Given the description of an element on the screen output the (x, y) to click on. 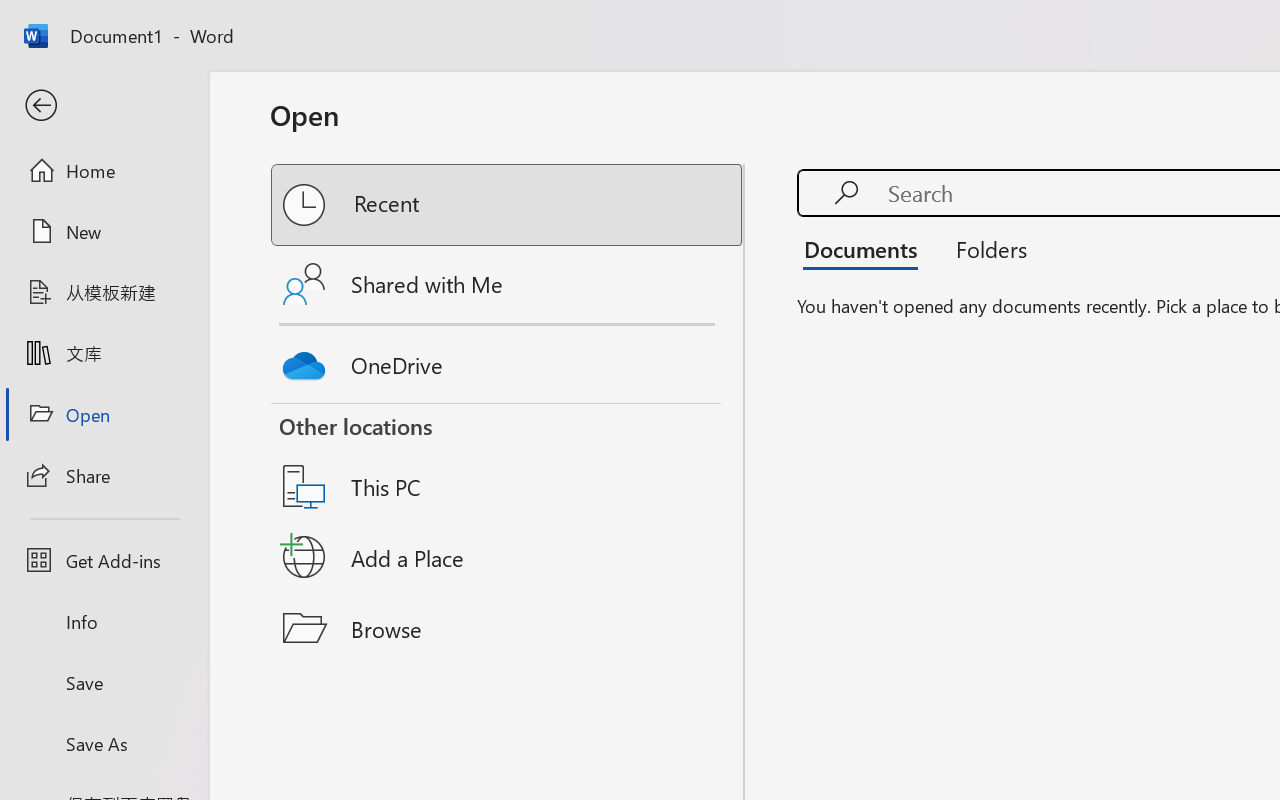
Folders (984, 248)
Recent (507, 205)
Add a Place (507, 557)
Documents (866, 248)
Get Add-ins (104, 560)
Shared with Me (507, 283)
Back (104, 106)
Browse (507, 627)
Info (104, 621)
